Given the description of an element on the screen output the (x, y) to click on. 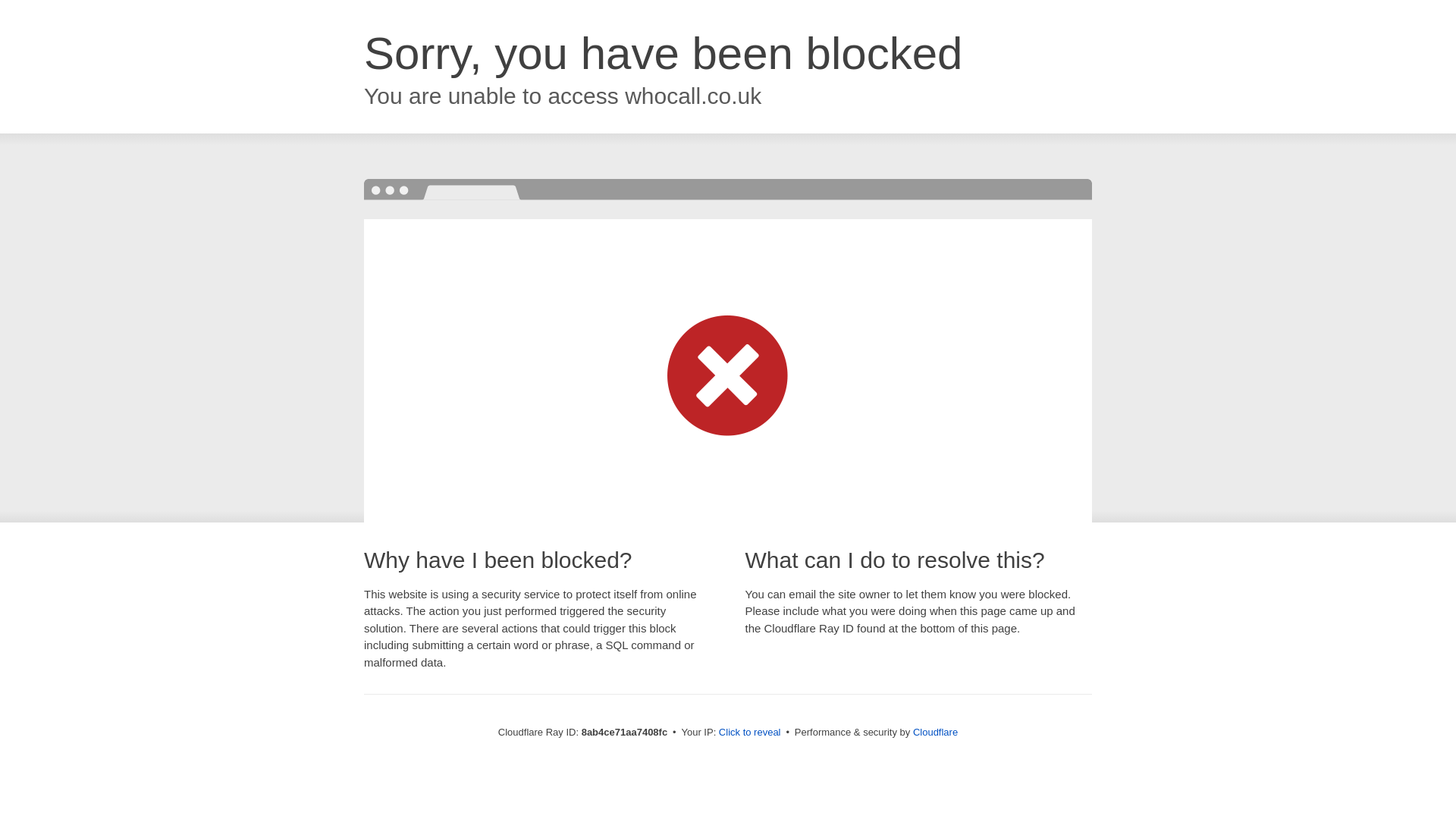
Click to reveal (749, 732)
Cloudflare (935, 731)
